Given the description of an element on the screen output the (x, y) to click on. 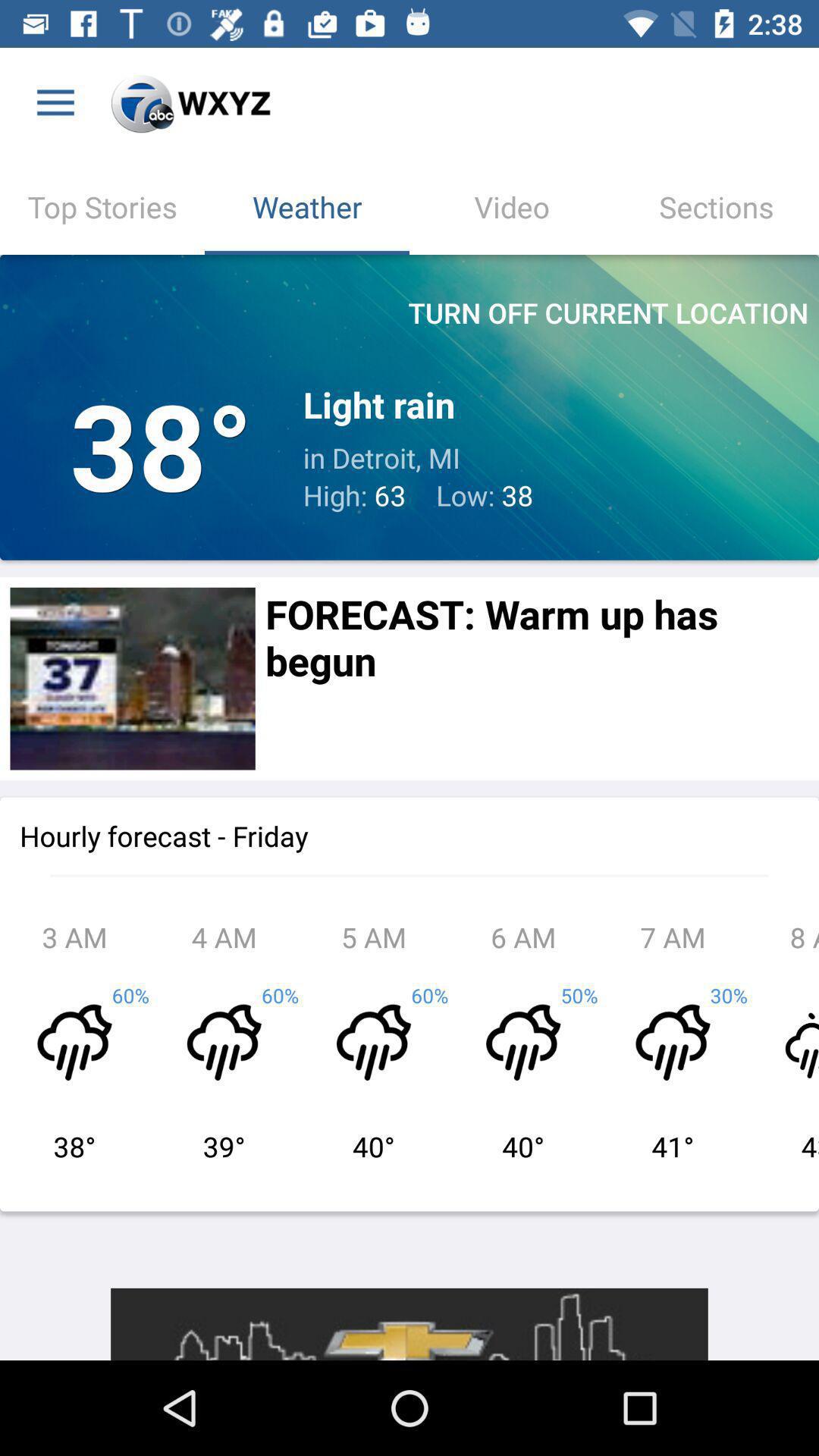
calendar (132, 678)
